Given the description of an element on the screen output the (x, y) to click on. 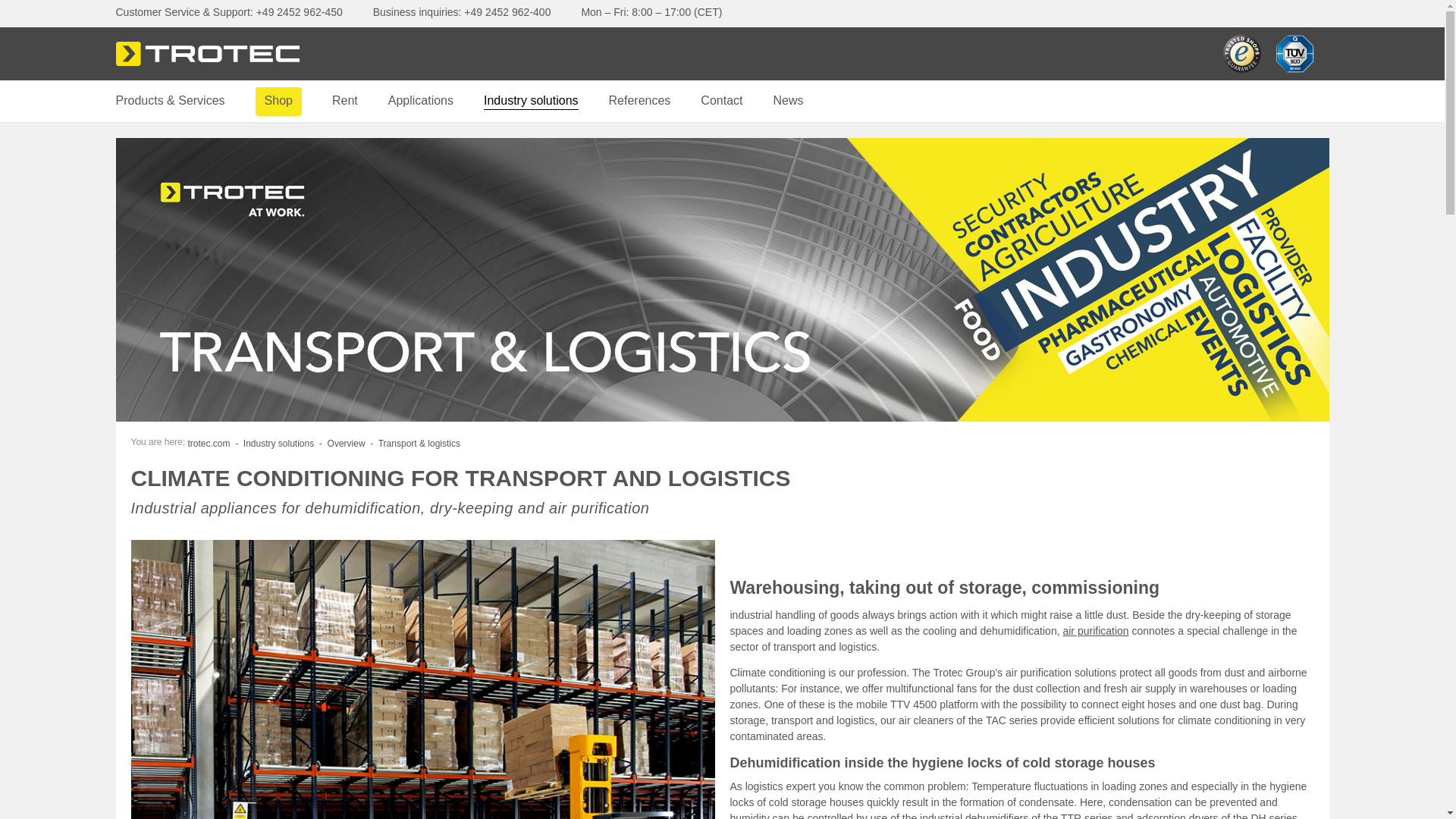
Shop (278, 100)
Trusted Shops (1241, 53)
Applications (420, 100)
adsorption dryers of the DH series (1216, 815)
industrial dehumidifiers of the TTR series (1016, 815)
Rent (344, 100)
Contact (721, 100)
References (639, 100)
News (788, 100)
Industry solutions (530, 100)
air purification (1095, 630)
